Given the description of an element on the screen output the (x, y) to click on. 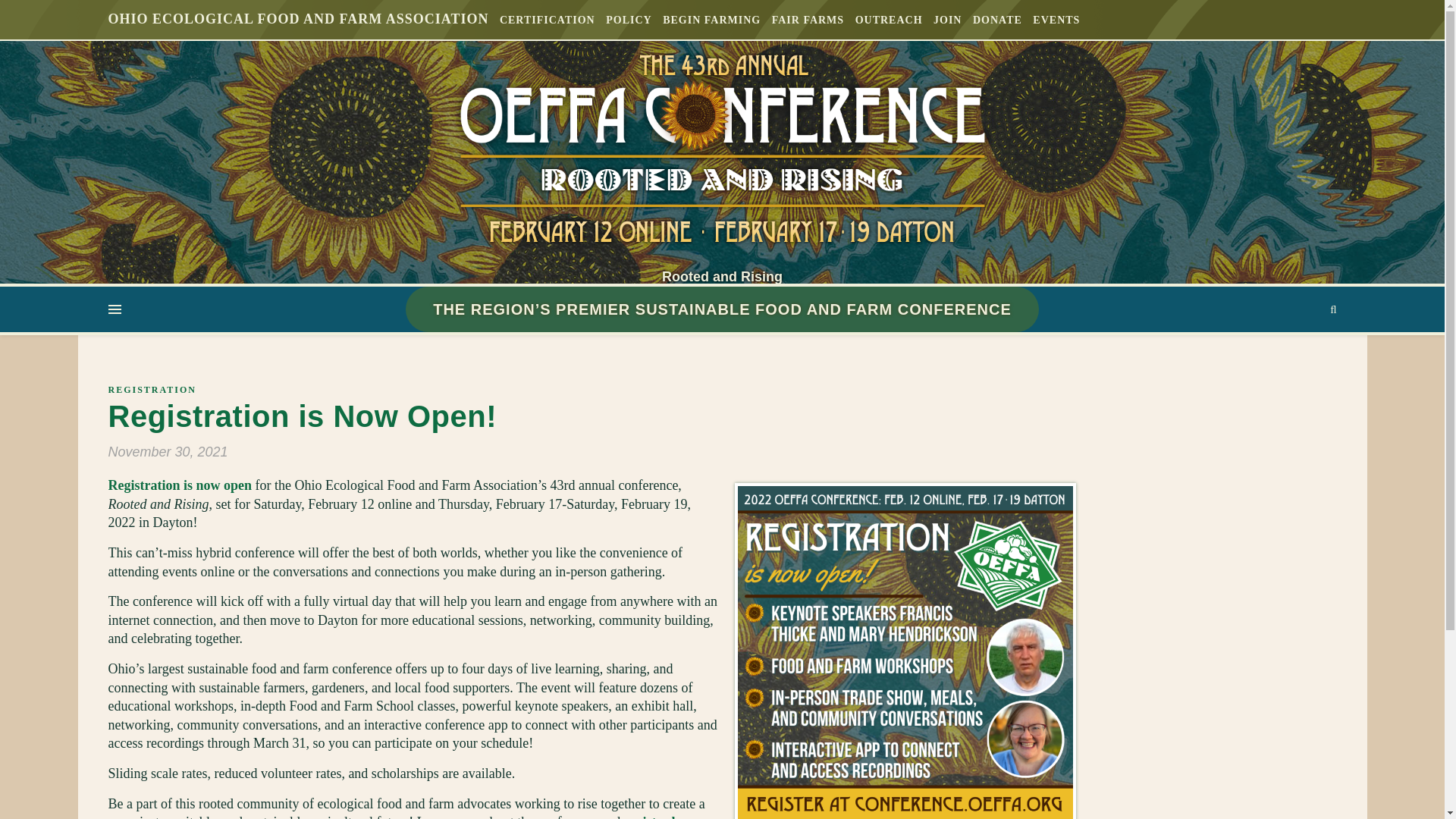
DONATE (997, 20)
register here (660, 816)
REGISTRATION (151, 389)
JOIN (947, 20)
OUTREACH (888, 20)
OEFFA Conference (721, 149)
OHIO ECOLOGICAL FOOD AND FARM ASSOCIATION (299, 18)
FAIR FARMS (807, 20)
Registration is now open (179, 485)
EVENTS (1054, 20)
